Given the description of an element on the screen output the (x, y) to click on. 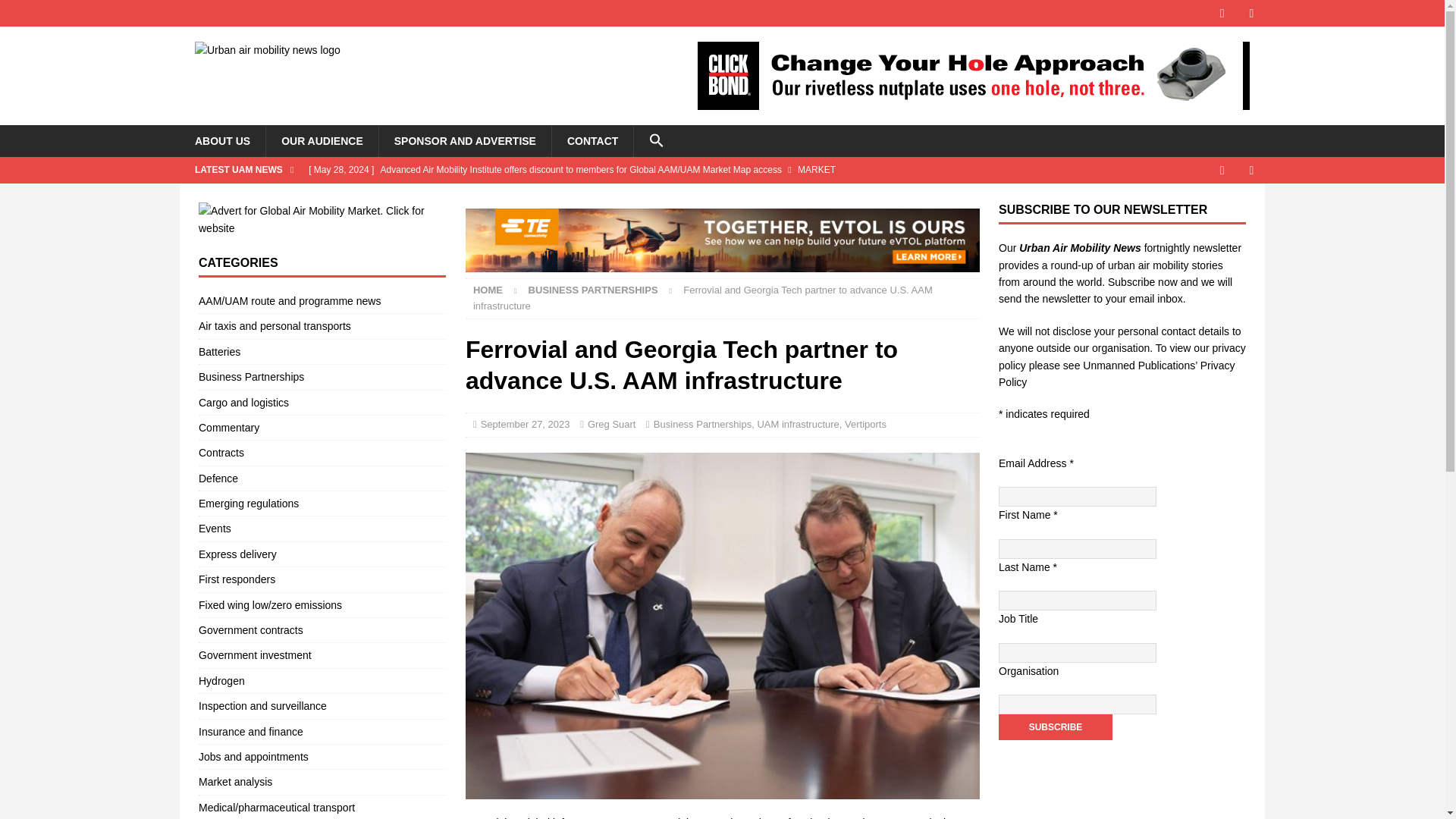
September 27, 2023 (525, 423)
Batteries (321, 351)
Business Partnerships (702, 423)
UAM infrastructure (797, 423)
Business Partnerships (593, 289)
Cargo and logistics (321, 402)
OUR AUDIENCE (321, 141)
Business Partnerships (321, 376)
Greg Suart (612, 423)
SPONSOR AND ADVERTISE (464, 141)
BUSINESS PARTNERSHIPS (593, 289)
Vertiports (865, 423)
Air taxis and personal transports (321, 325)
Subscribe (1055, 727)
CONTACT (592, 141)
